Given the description of an element on the screen output the (x, y) to click on. 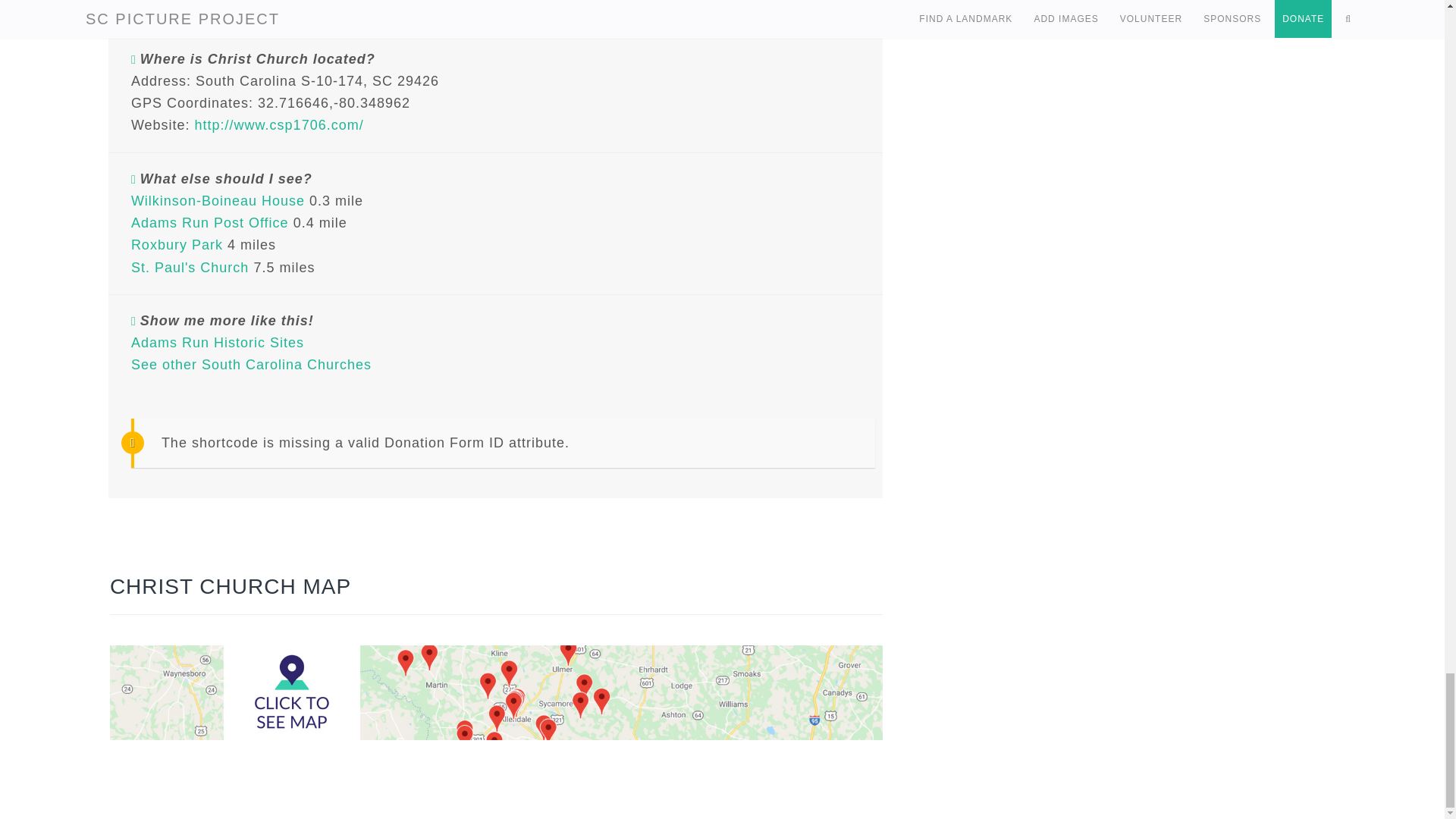
St. Paul's Church (189, 266)
Wilkinson-Boineau House (217, 200)
Roxbury Park (176, 244)
Adams Run Post Office (209, 222)
See other South Carolina Churches (251, 364)
Adams Run Historic Sites (217, 342)
